Given the description of an element on the screen output the (x, y) to click on. 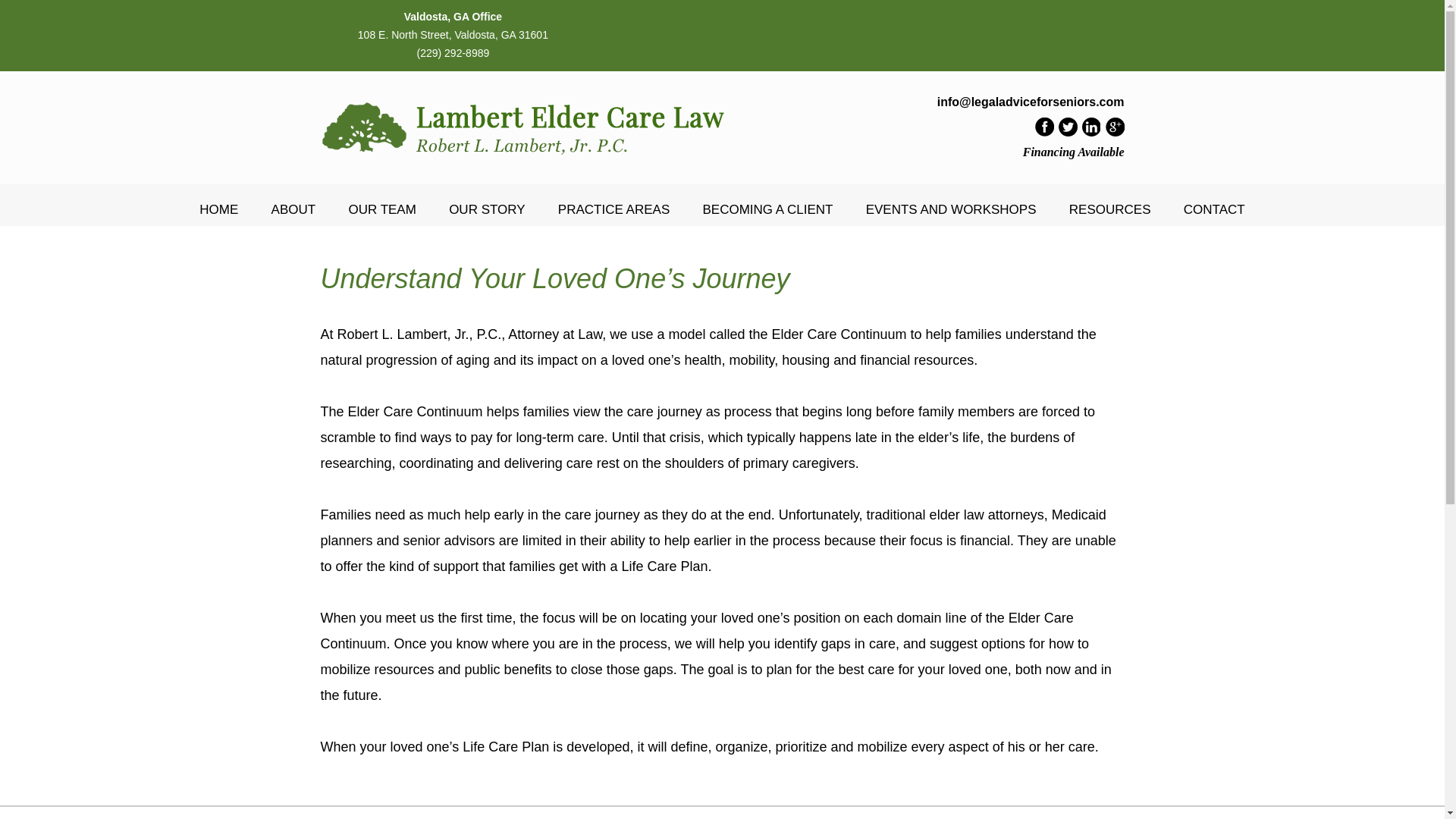
EVENTS AND WORKSHOPS (951, 209)
BECOMING A CLIENT (766, 209)
ABOUT (292, 209)
OUR TEAM (380, 209)
CONTACT (1213, 209)
Financing Available (1073, 151)
HOME (218, 209)
PRACTICE AREAS (613, 209)
RESOURCES (1109, 209)
OUR STORY (486, 209)
